Given the description of an element on the screen output the (x, y) to click on. 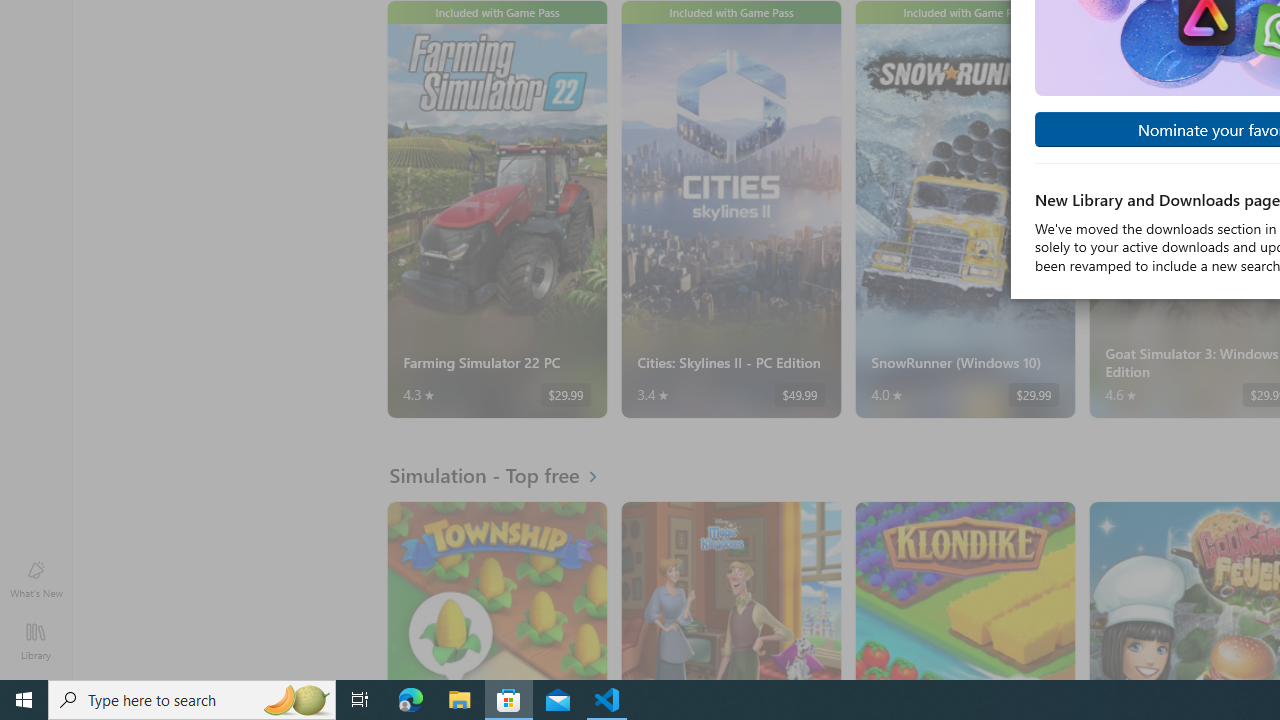
See all  Simulation - Top free (505, 475)
Township. Average rating of 4.5 out of five stars. Free   (497, 590)
